Given the description of an element on the screen output the (x, y) to click on. 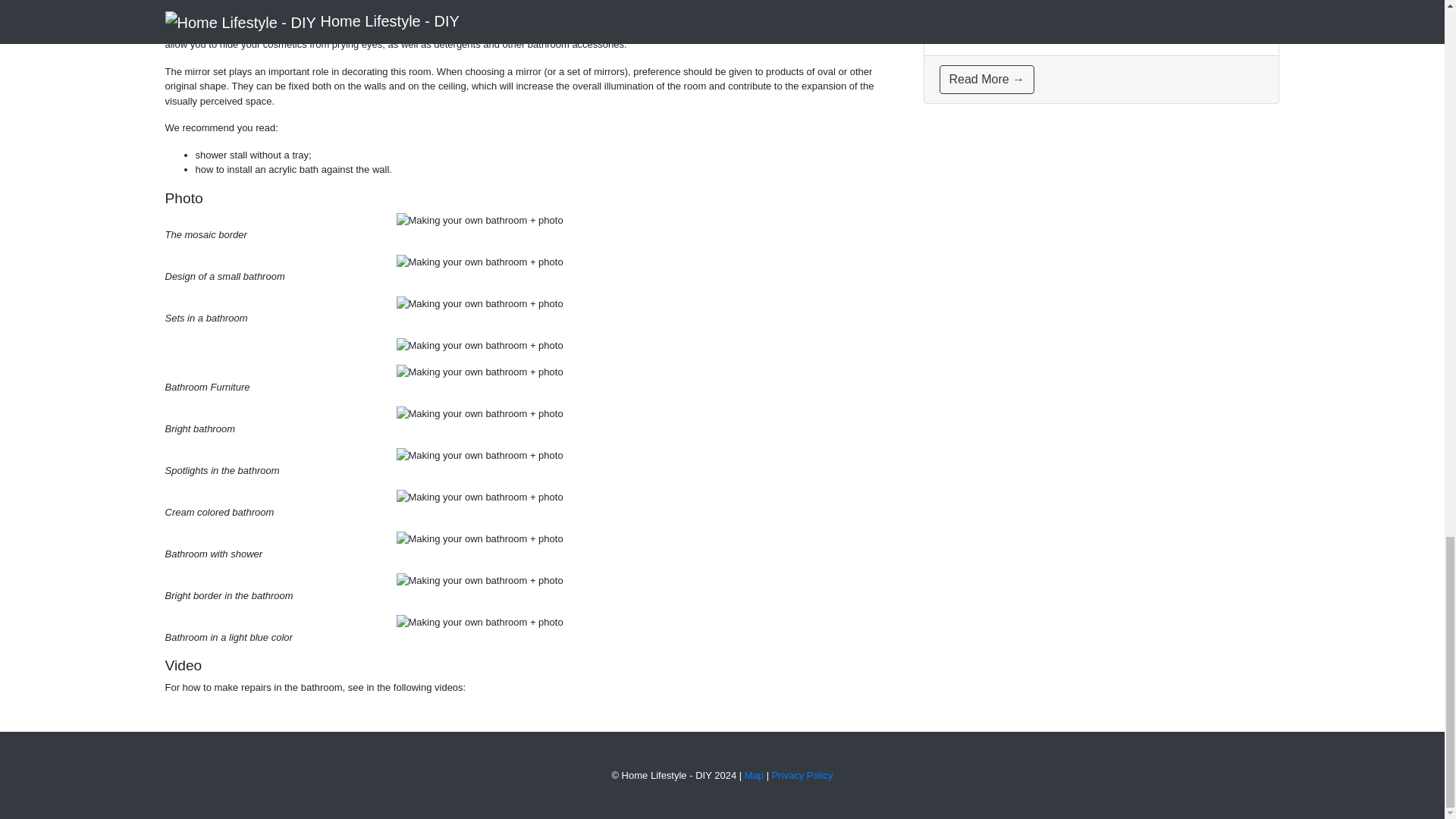
Privacy Policy (801, 775)
Map (753, 775)
